Given the description of an element on the screen output the (x, y) to click on. 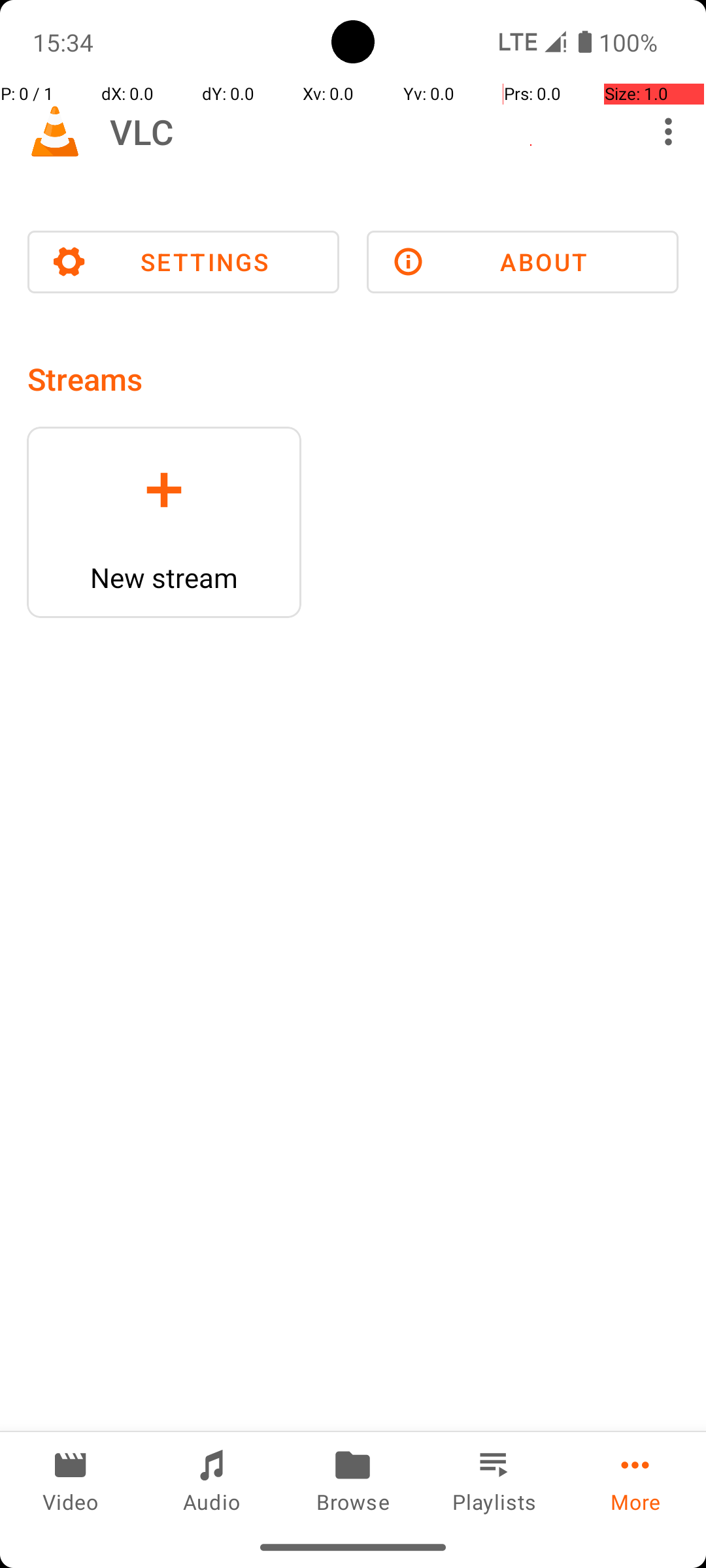
SETTINGS Element type: android.widget.Button (183, 261)
ABOUT Element type: android.widget.Button (522, 261)
Streams Element type: android.widget.TextView (84, 378)
New stream Element type: android.widget.TextView (163, 576)
